Given the description of an element on the screen output the (x, y) to click on. 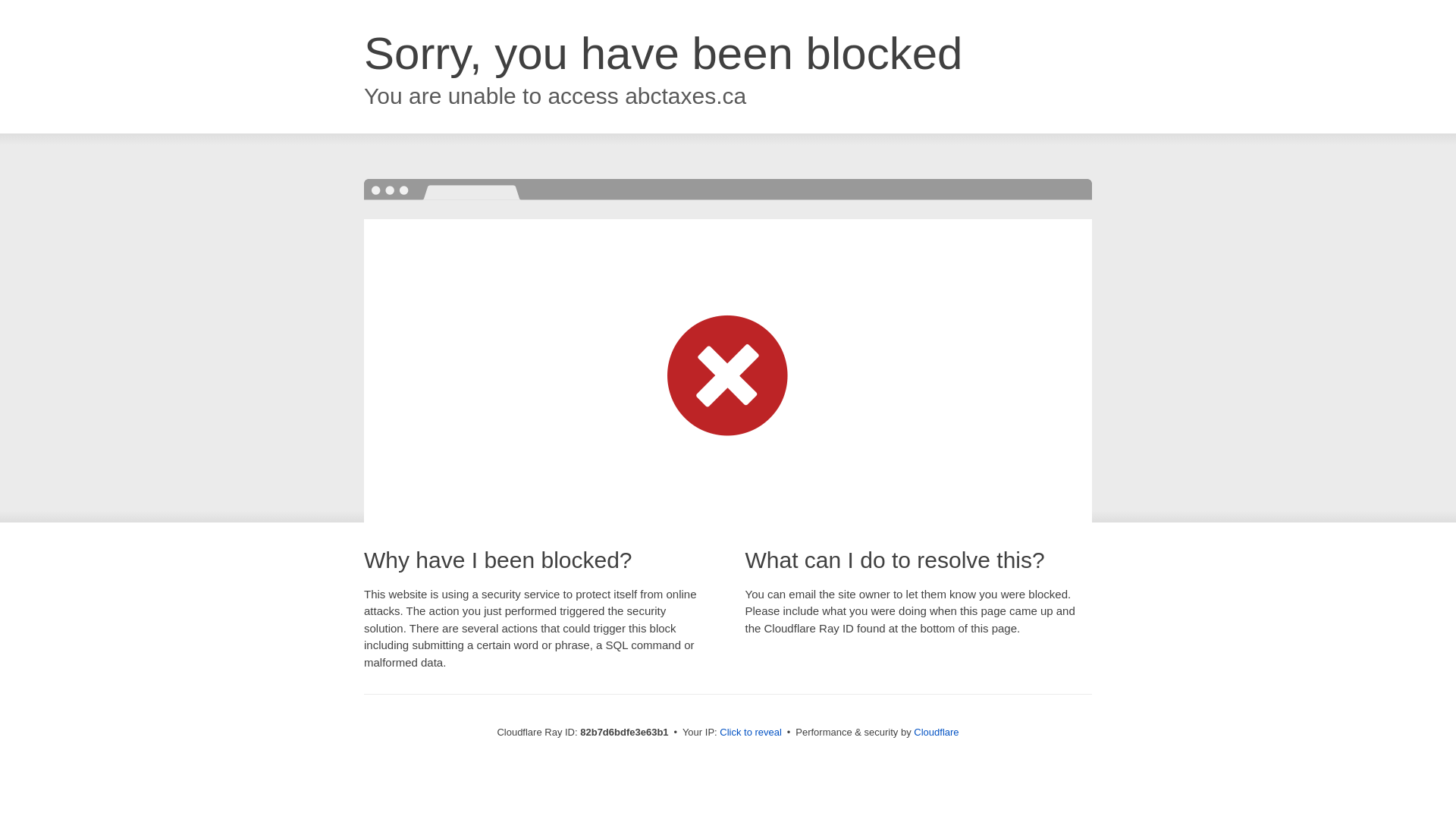
Click to reveal Element type: text (750, 732)
Cloudflare Element type: text (935, 731)
